Given the description of an element on the screen output the (x, y) to click on. 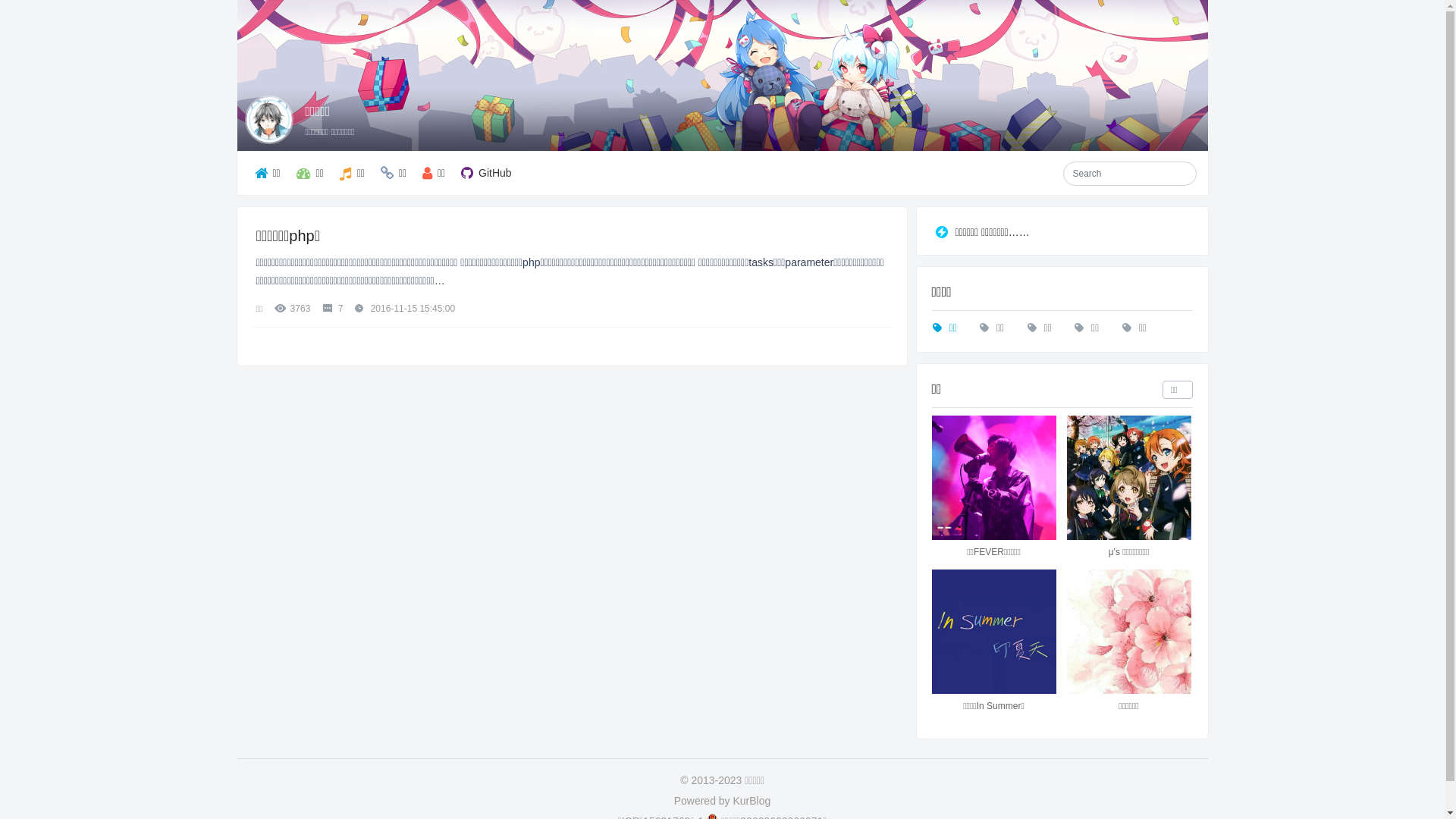
KurBlog Element type: text (751, 800)
GitHub Element type: text (486, 173)
